Given the description of an element on the screen output the (x, y) to click on. 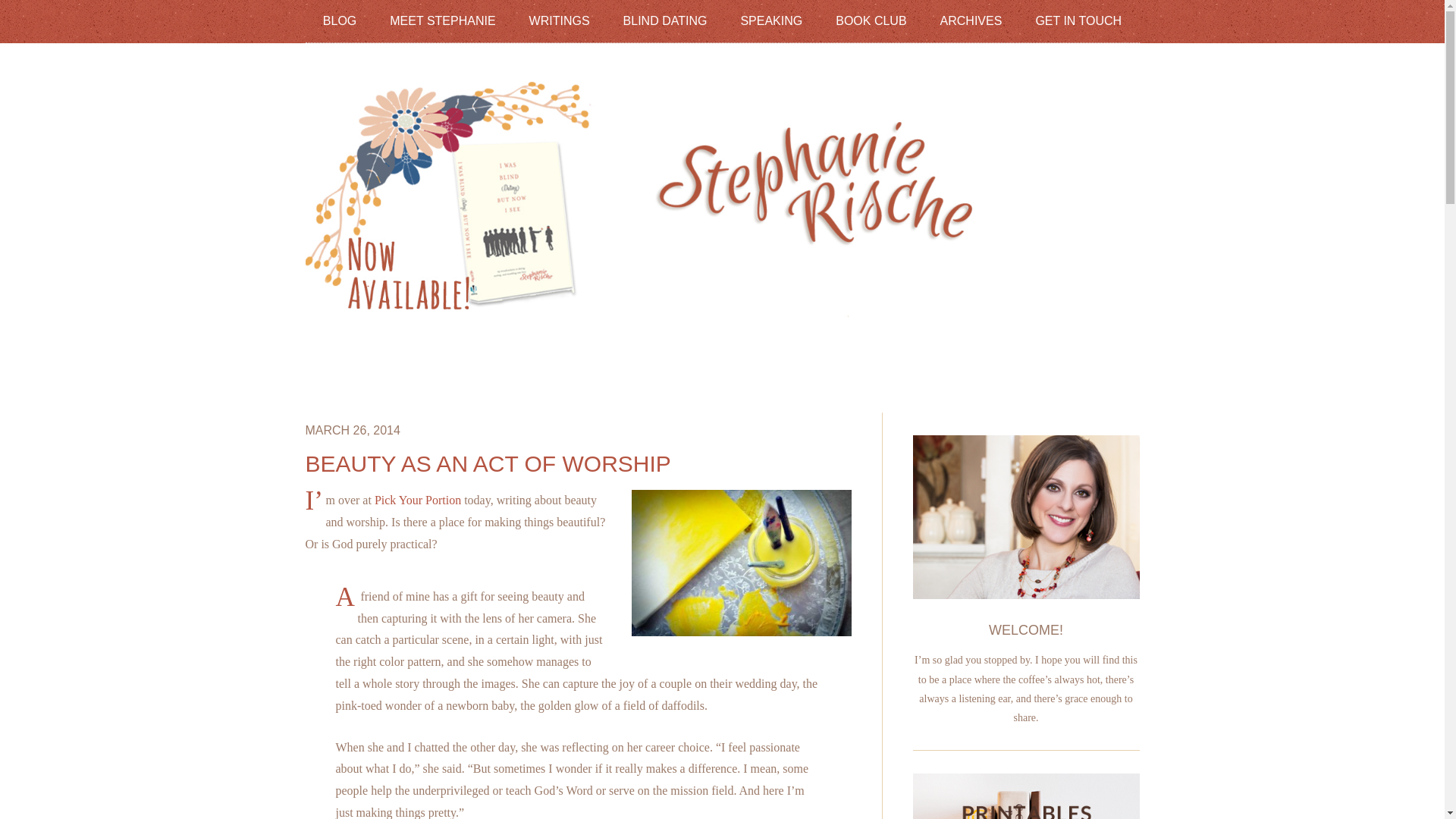
SPEAKING (770, 20)
WRITINGS (559, 20)
BEAUTY AS AN ACT OF WORSHIP (486, 463)
BLOG (339, 20)
ARCHIVES (971, 20)
Stephanie Rische (721, 306)
BOOK CLUB (870, 20)
BLIND DATING (665, 20)
MEET STEPHANIE (442, 20)
Pick Your Portion (417, 499)
Beauty as Worship; stephanierische.com; Pick Your Portion (736, 565)
GET IN TOUCH (1078, 20)
